Given the description of an element on the screen output the (x, y) to click on. 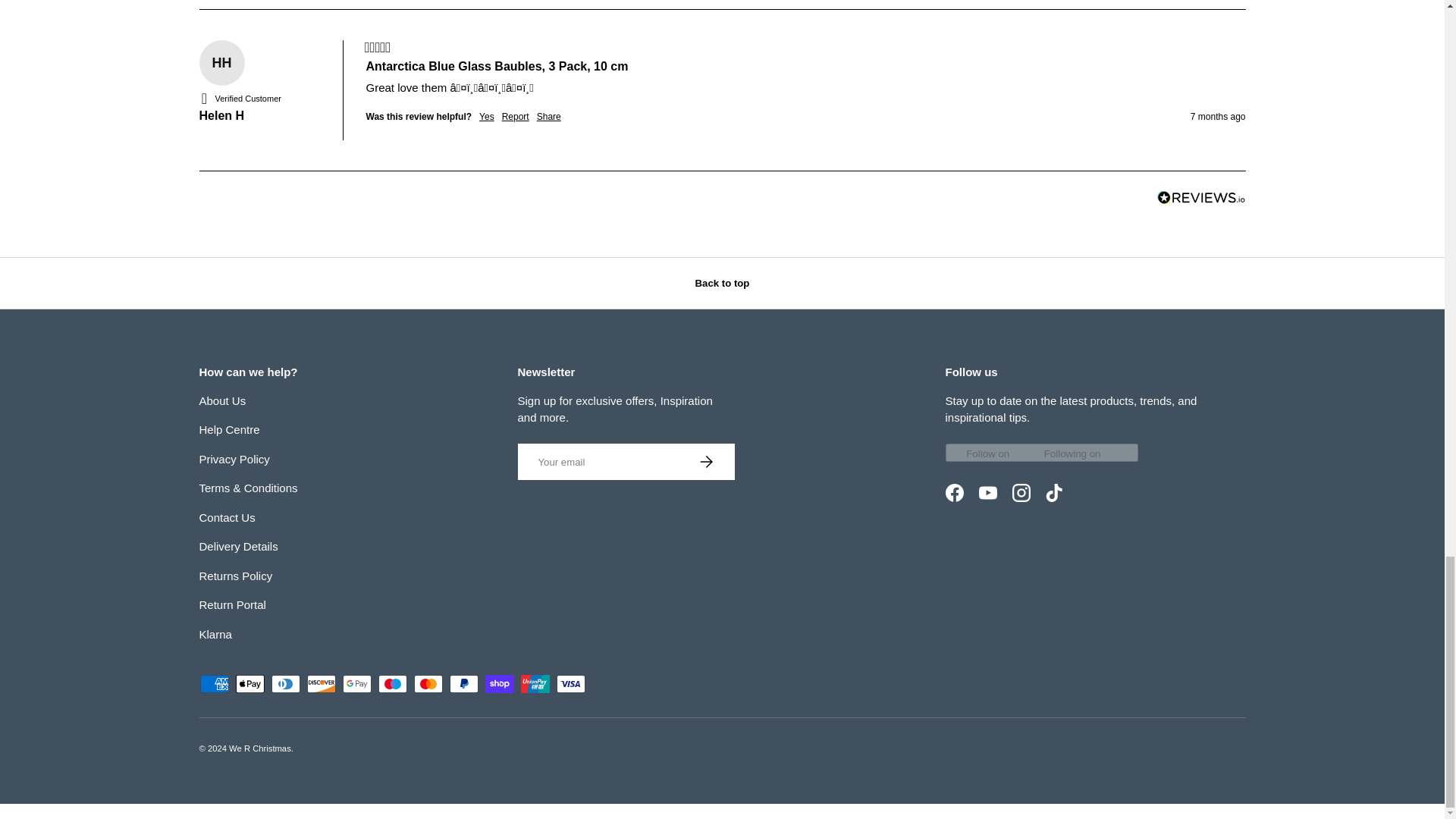
We R Christmas on Instagram (1020, 492)
5 Stars (377, 47)
We R Christmas on TikTok (1053, 492)
We R Christmas on Facebook (954, 492)
We R Christmas on YouTube (987, 492)
